Given the description of an element on the screen output the (x, y) to click on. 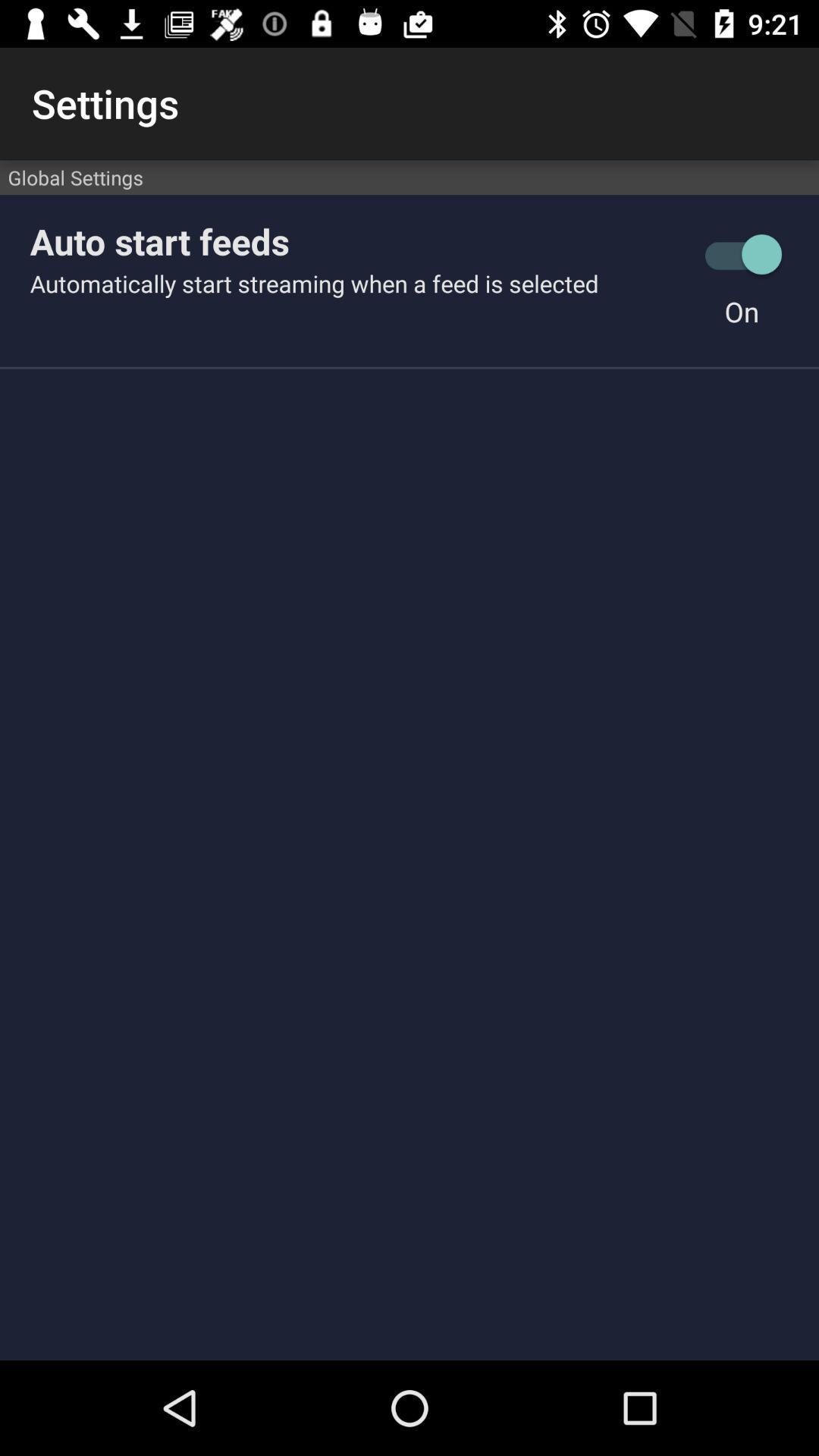
tap app below the global settings item (741, 254)
